Given the description of an element on the screen output the (x, y) to click on. 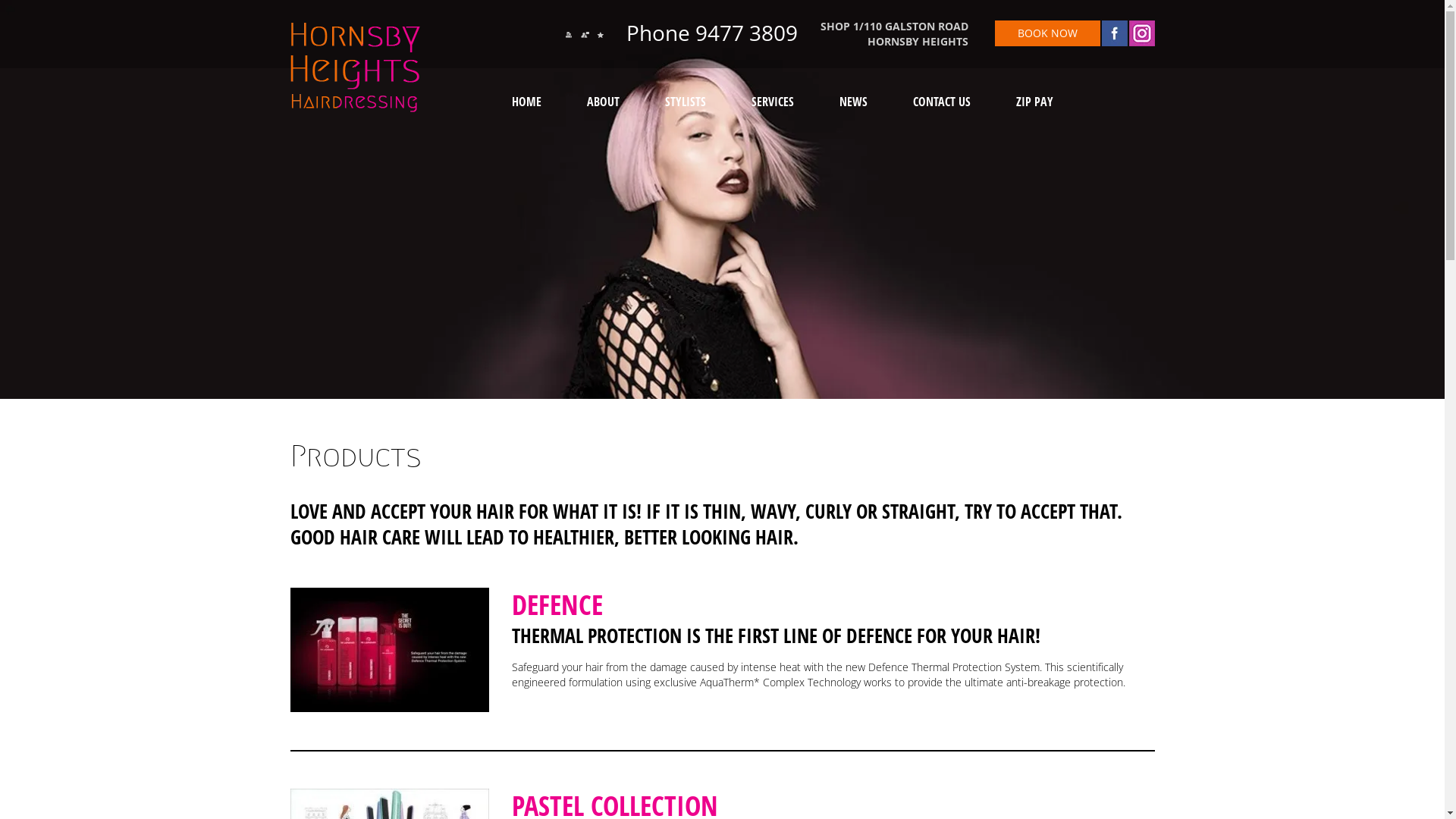
BOOK NOW Element type: text (1047, 33)
facebook Element type: text (1113, 33)
9477 3809 Element type: text (743, 32)
NEWS Element type: text (853, 103)
HOME Element type: text (526, 103)
ZIP PAY Element type: text (1034, 103)
ABOUT Element type: text (602, 103)
STYLISTS Element type: text (685, 103)
SERVICES Element type: text (772, 103)
CONTACT US Element type: text (941, 103)
instagram Element type: text (1141, 33)
